Given the description of an element on the screen output the (x, y) to click on. 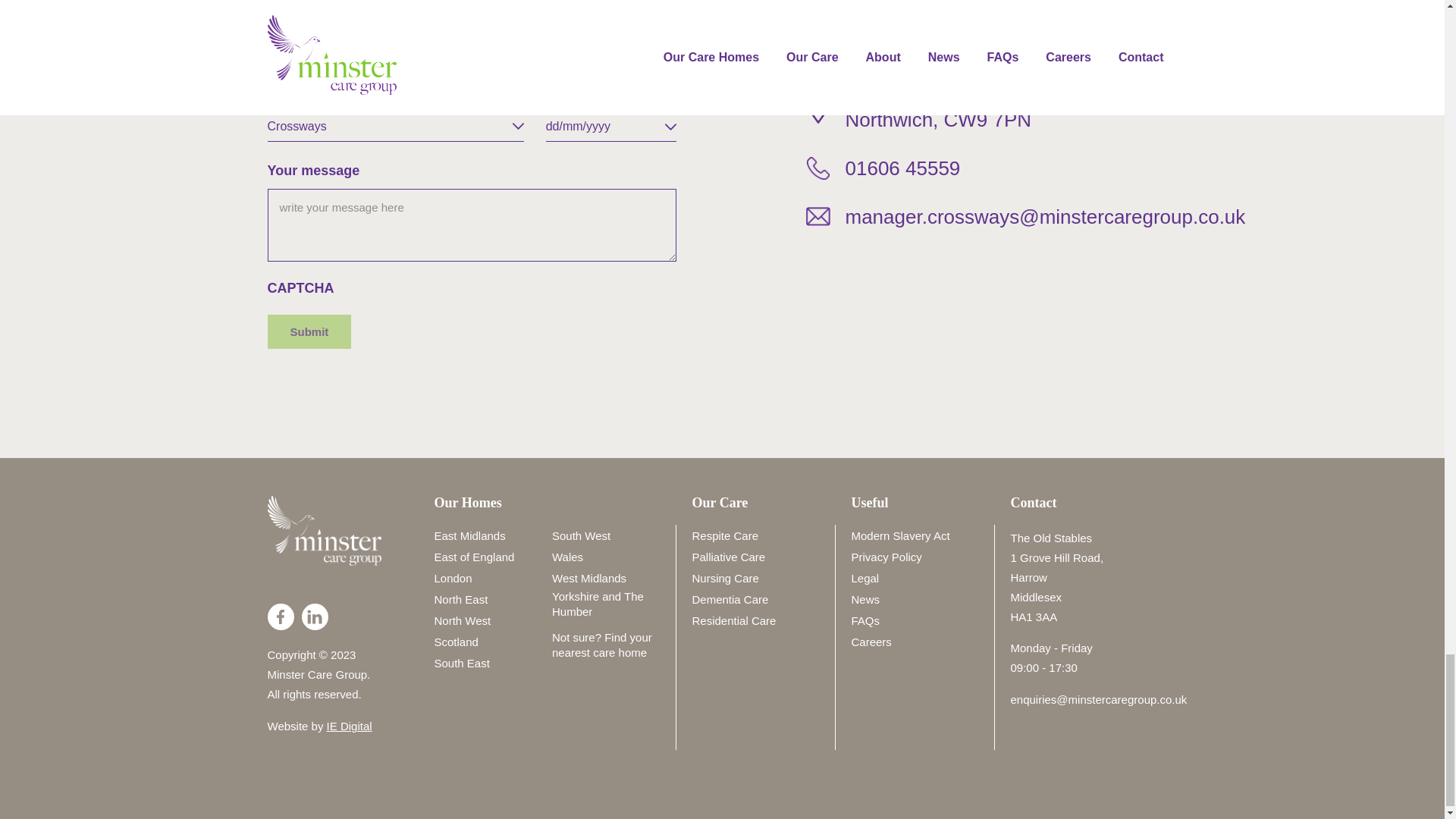
Submit (308, 331)
